Given the description of an element on the screen output the (x, y) to click on. 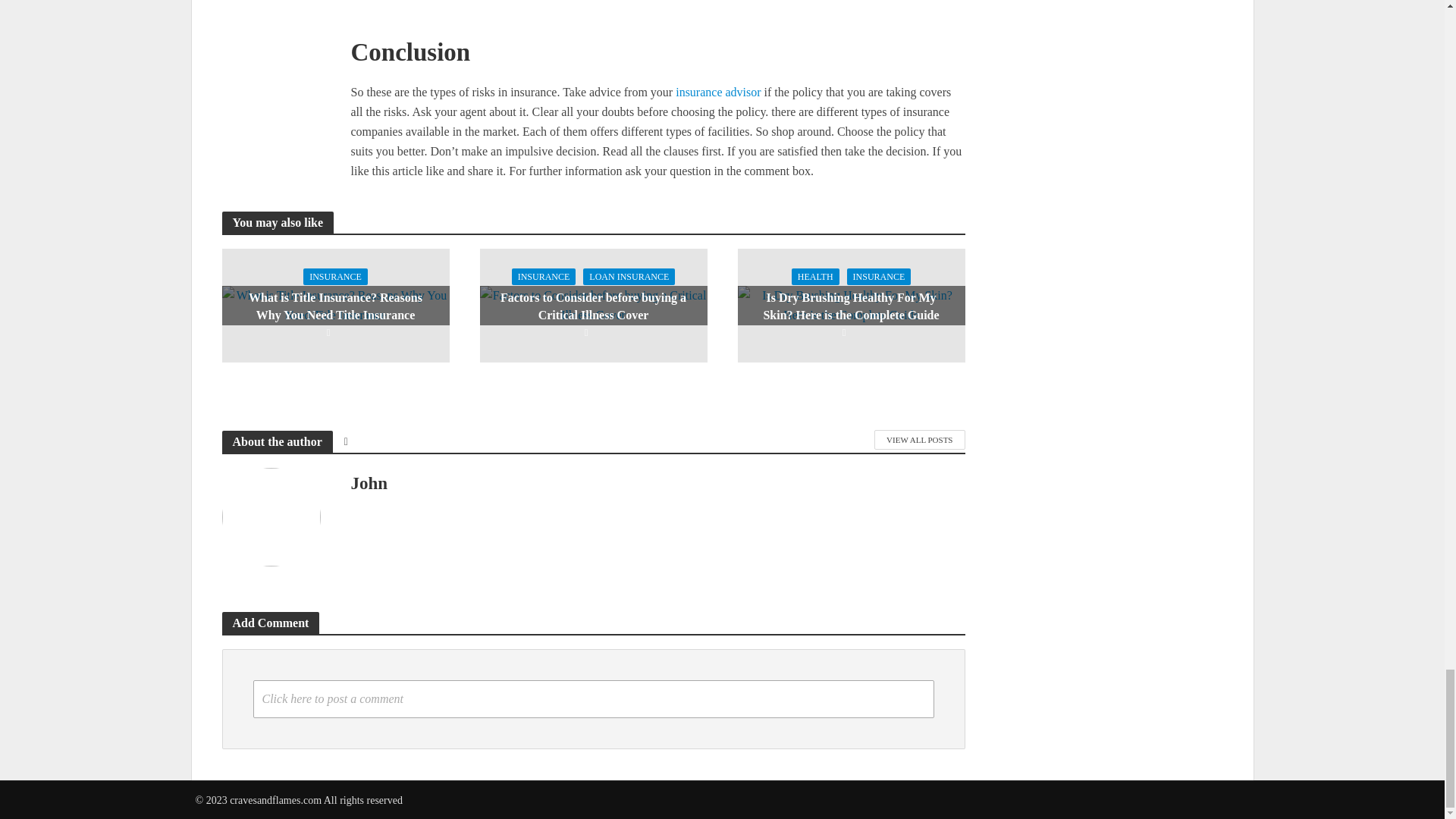
Factors to Consider before buying a Critical Illness Cover (592, 304)
